Given the description of an element on the screen output the (x, y) to click on. 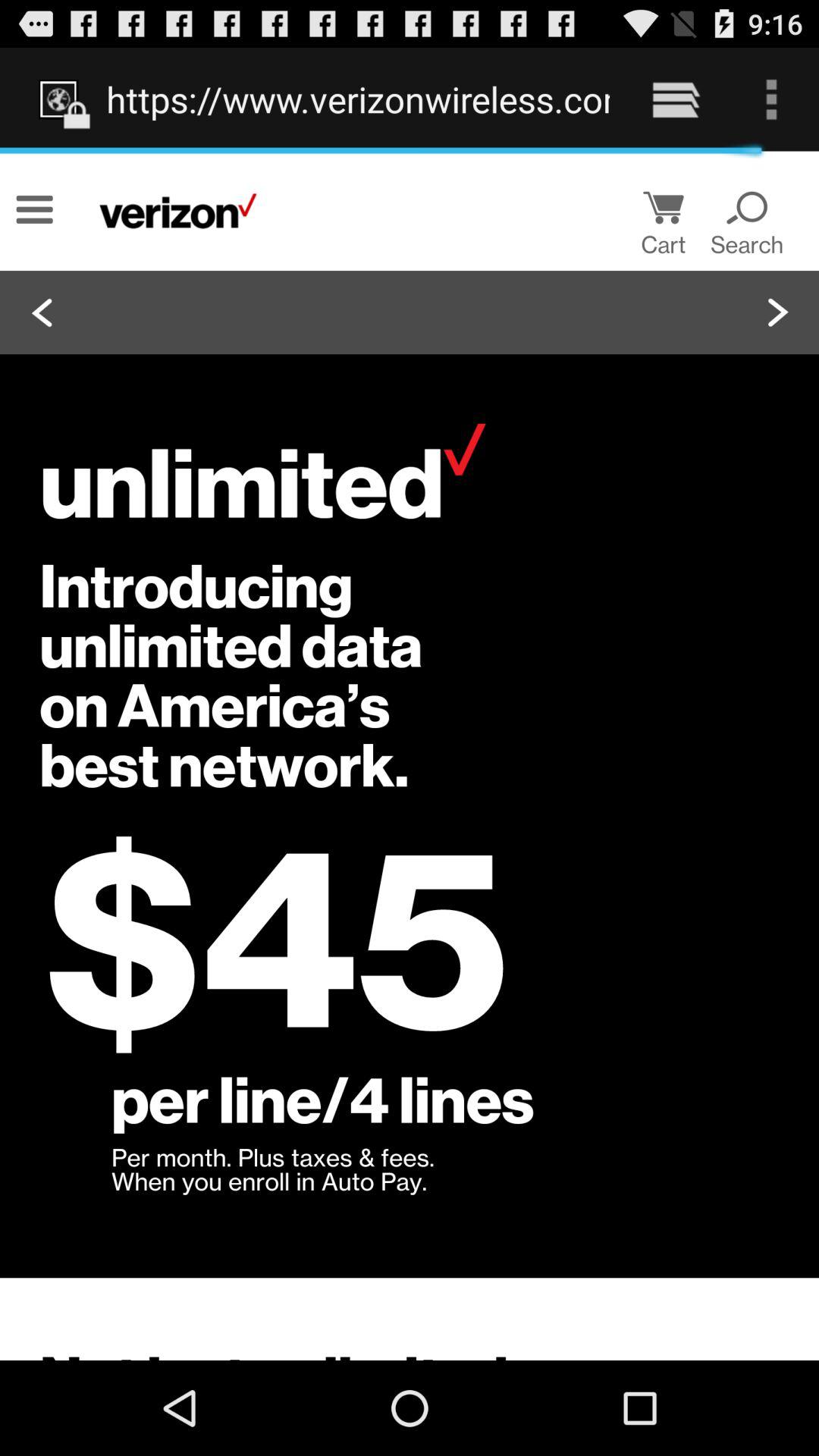
open the item to the right of the https www verizonwireless (675, 99)
